Given the description of an element on the screen output the (x, y) to click on. 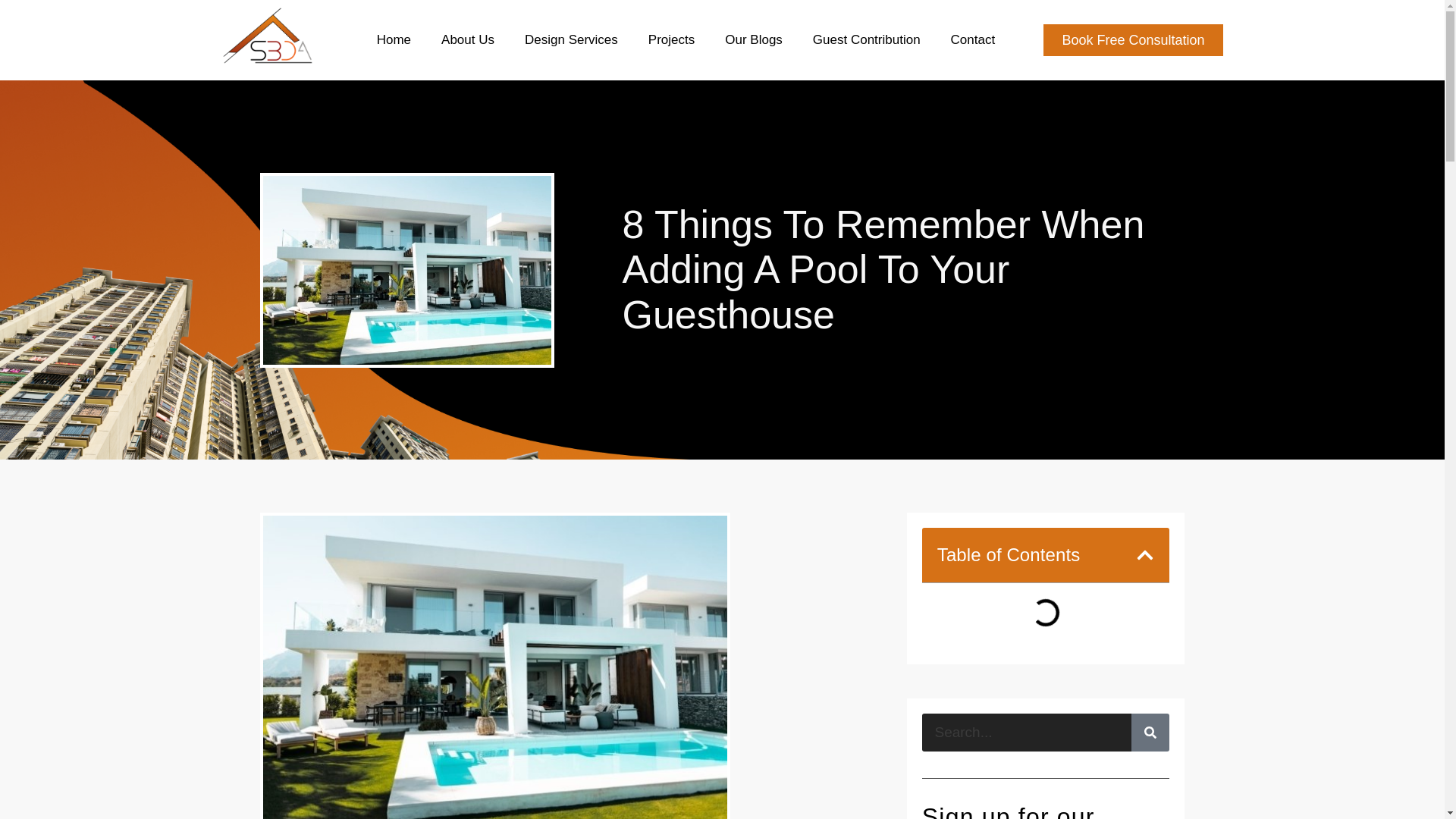
Design Services (570, 39)
Our Blogs (753, 39)
Home (393, 39)
Book Free Consultation (1133, 40)
About Us (467, 39)
Projects (671, 39)
Contact (973, 39)
Guest Contribution (866, 39)
